Given the description of an element on the screen output the (x, y) to click on. 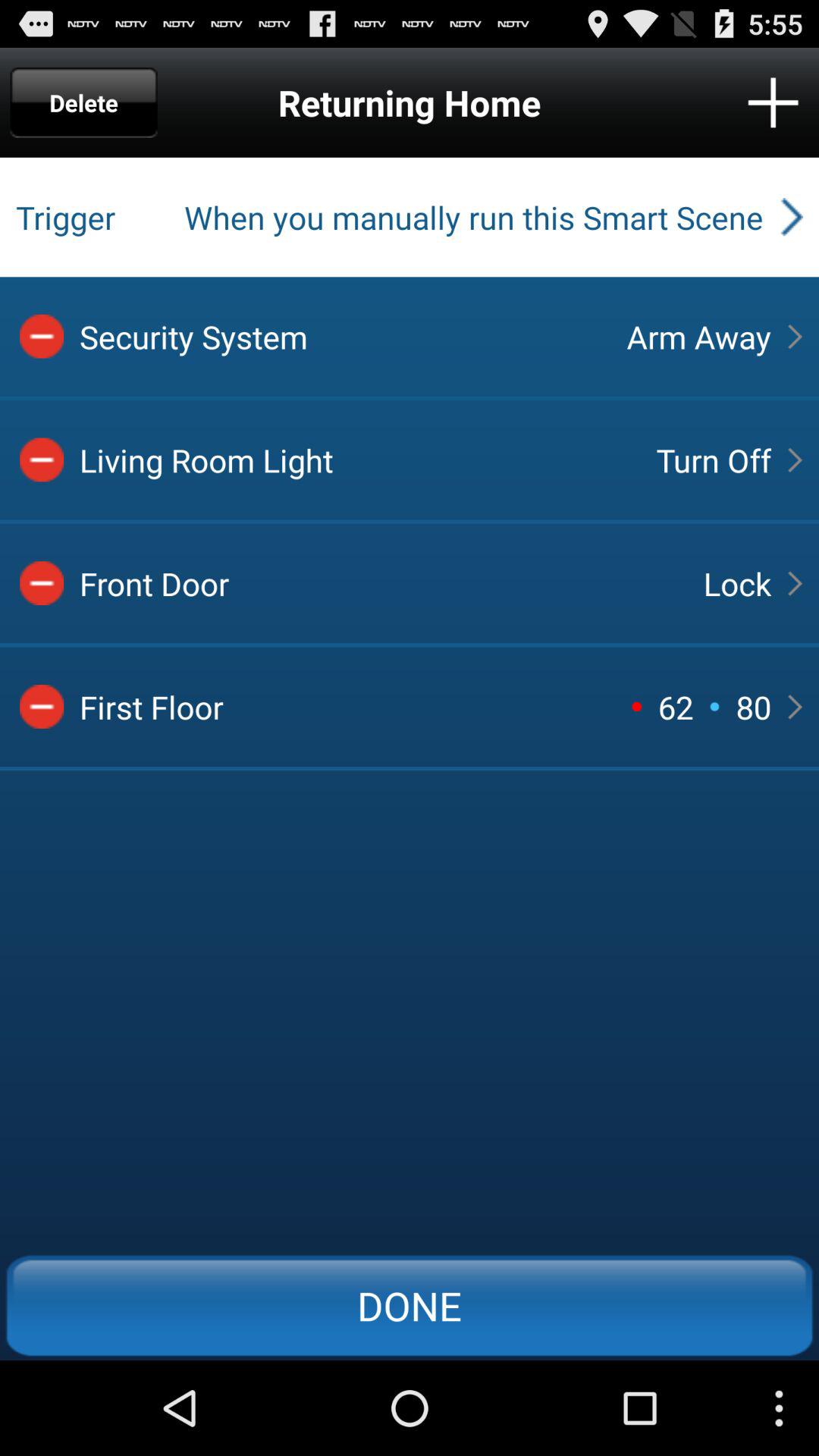
choose the item to the right of the 62 item (737, 583)
